Given the description of an element on the screen output the (x, y) to click on. 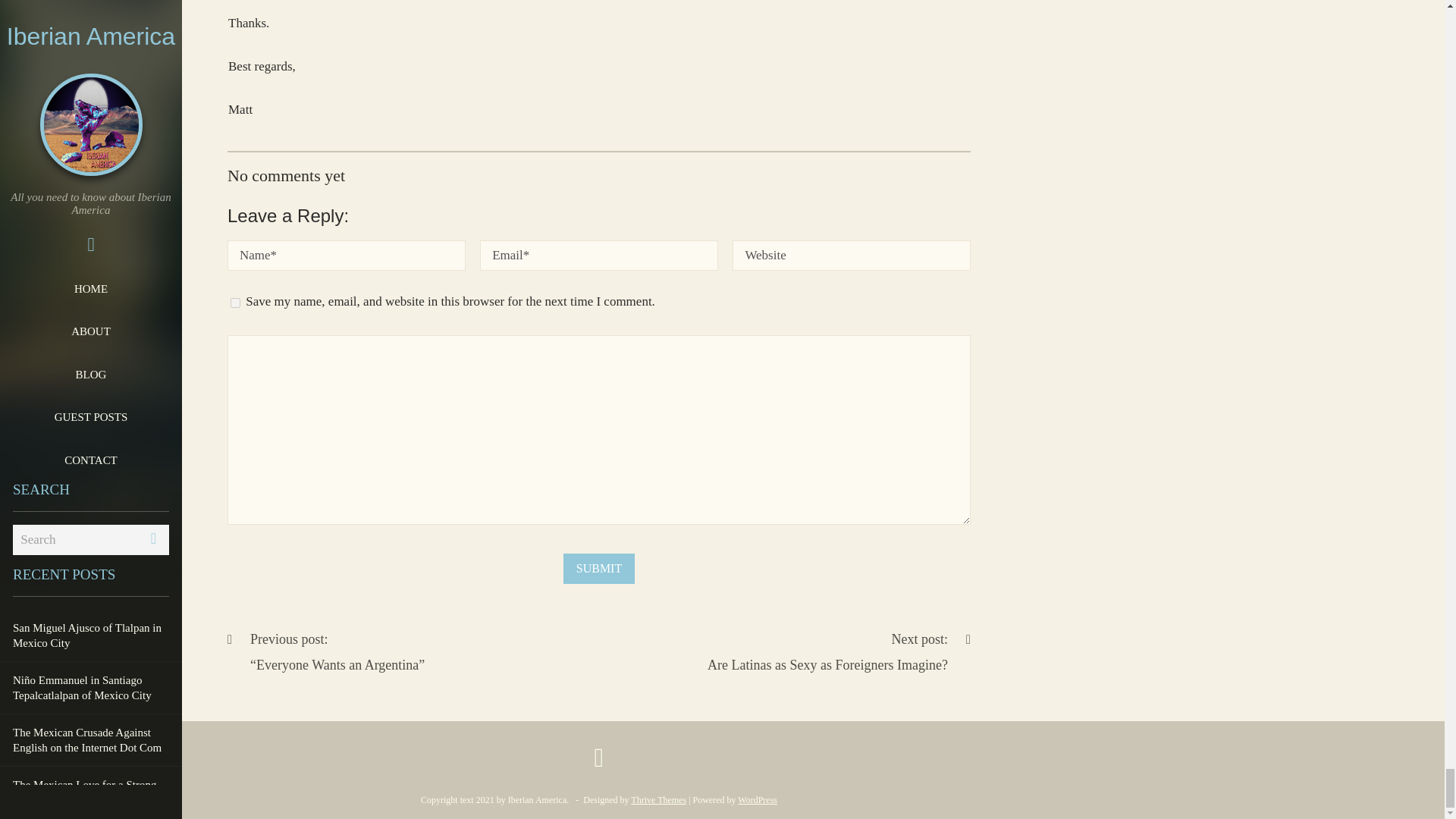
yes (235, 302)
SUBMIT (598, 568)
SUBMIT (839, 652)
